Given the description of an element on the screen output the (x, y) to click on. 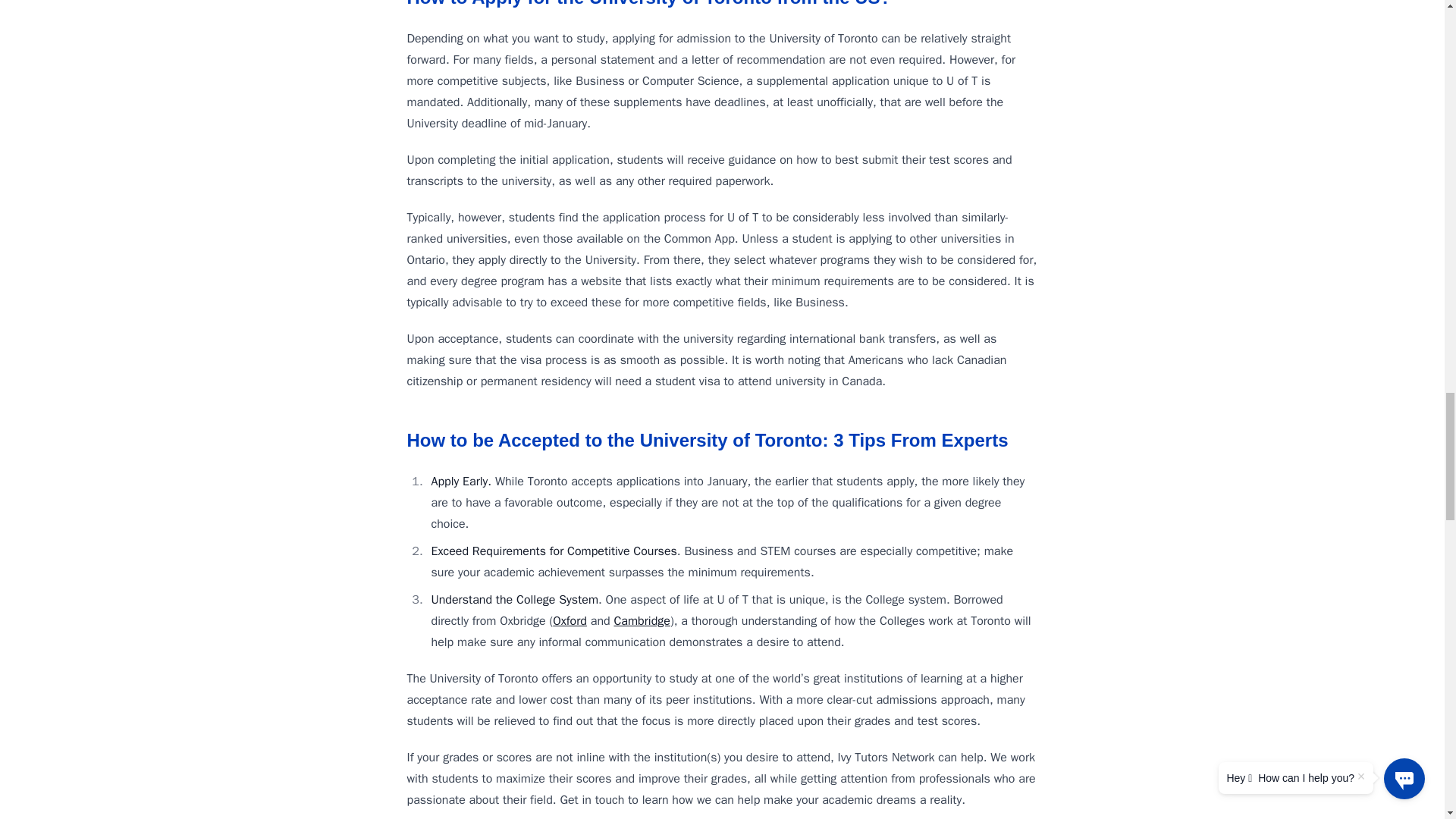
Cambridge (640, 620)
Oxford (569, 620)
